Given the description of an element on the screen output the (x, y) to click on. 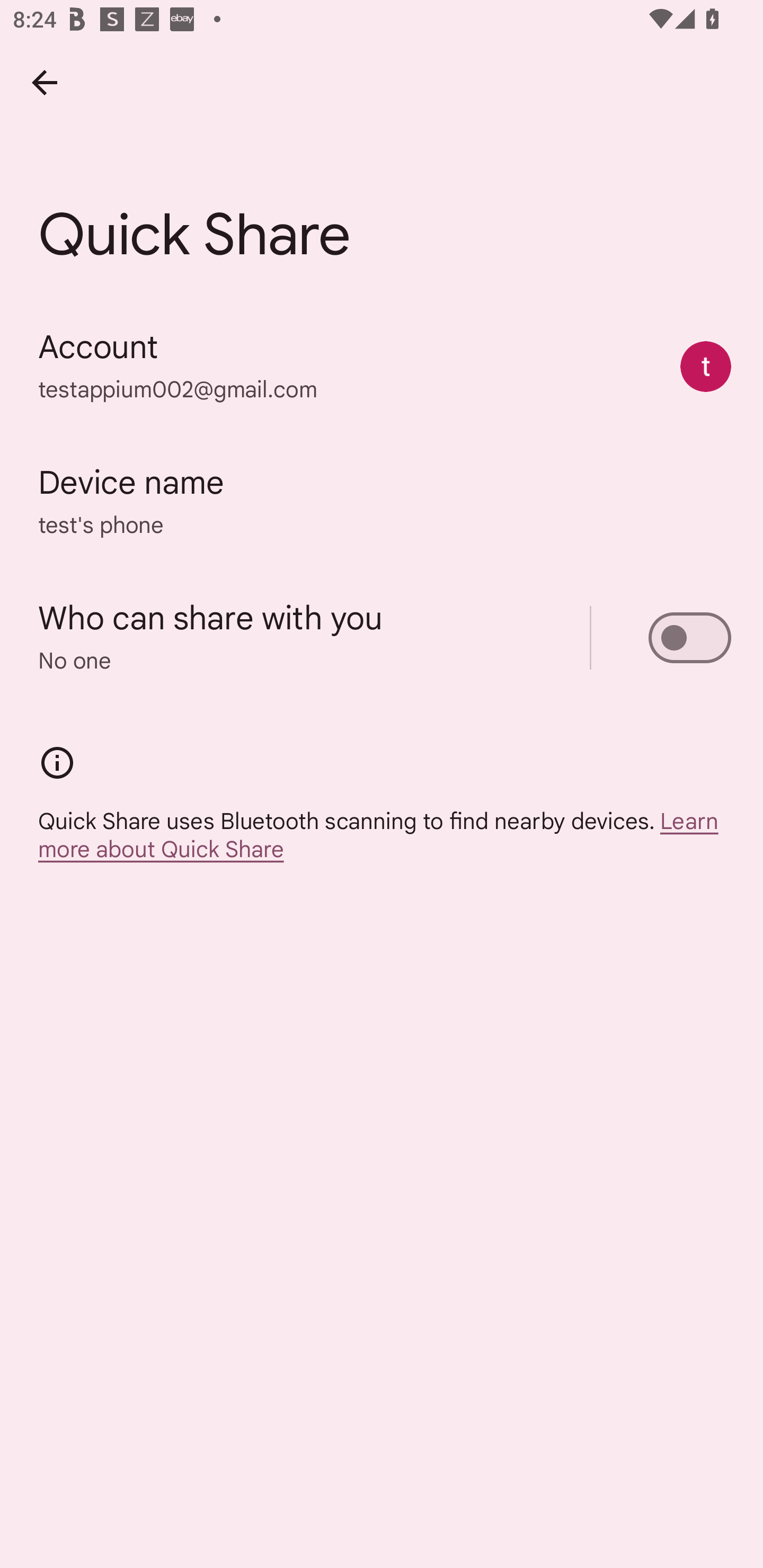
Back (44, 81)
Account testappium002@gmail.com (381, 366)
Device name test's phone (381, 502)
Who can share with you No one (381, 637)
